Given the description of an element on the screen output the (x, y) to click on. 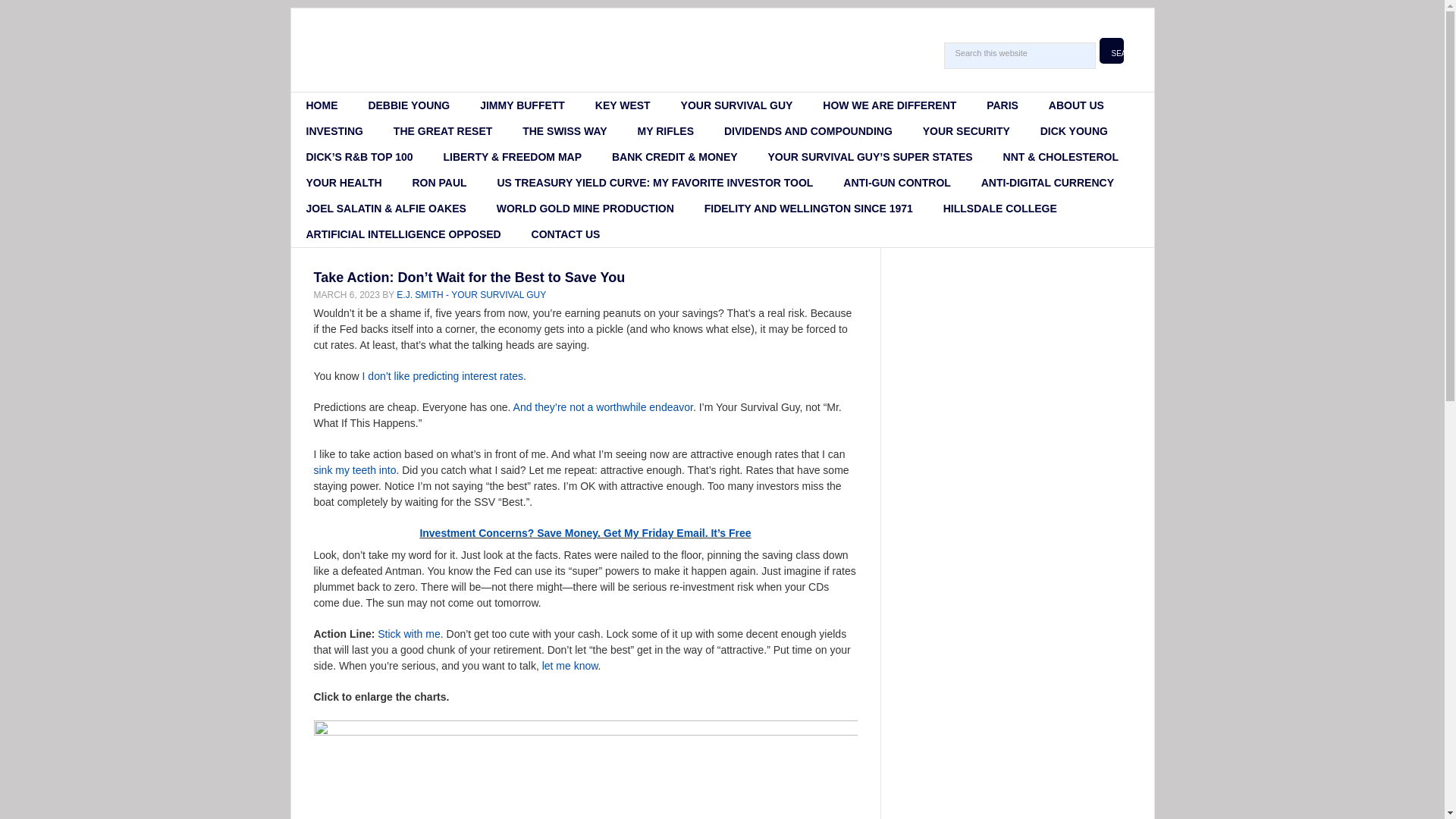
KEY WEST (622, 104)
interest rates (491, 376)
PARIS (1002, 104)
US TREASURY YIELD CURVE: MY FAVORITE INVESTOR TOOL (654, 182)
FIDELITY AND WELLINGTON SINCE 1971 (808, 208)
DIVIDENDS AND COMPOUNDING (808, 130)
JIMMY BUFFETT (521, 104)
MY RIFLES (666, 130)
DICK YOUNG (1073, 130)
ANTI-GUN CONTROL (897, 182)
